Given the description of an element on the screen output the (x, y) to click on. 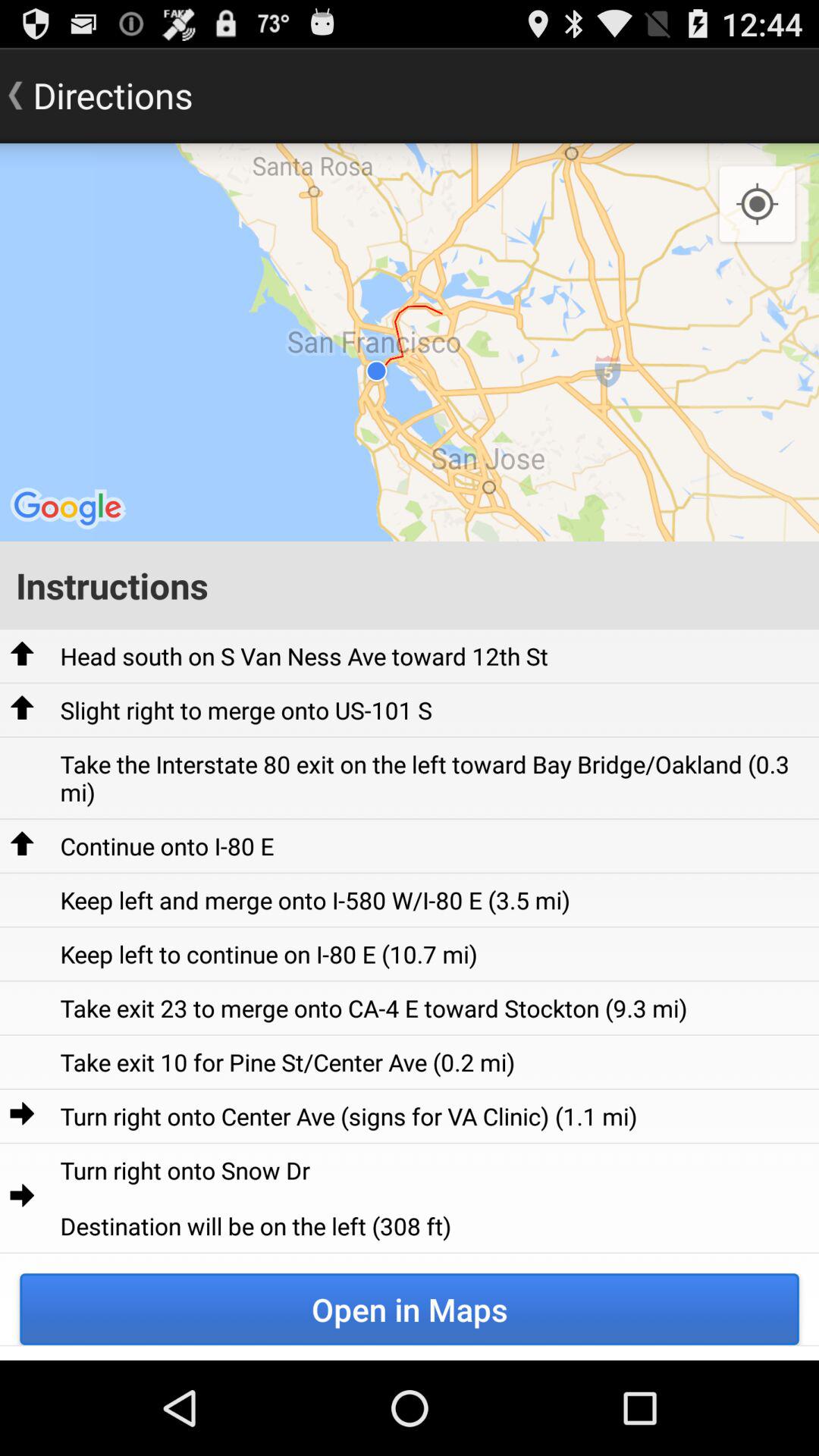
tap take the interstate app (434, 777)
